Given the description of an element on the screen output the (x, y) to click on. 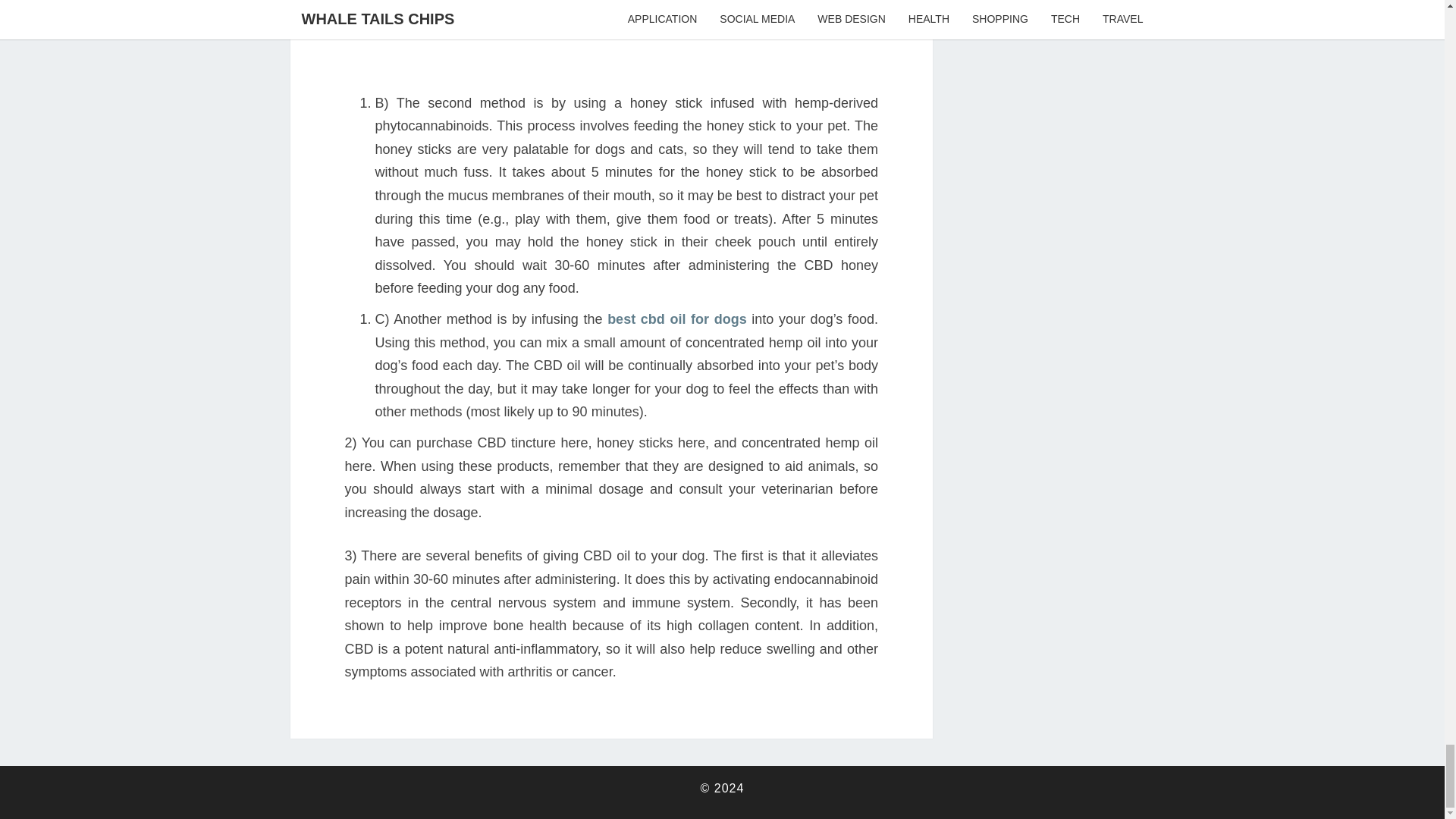
best cbd oil for dogs (676, 319)
